Given the description of an element on the screen output the (x, y) to click on. 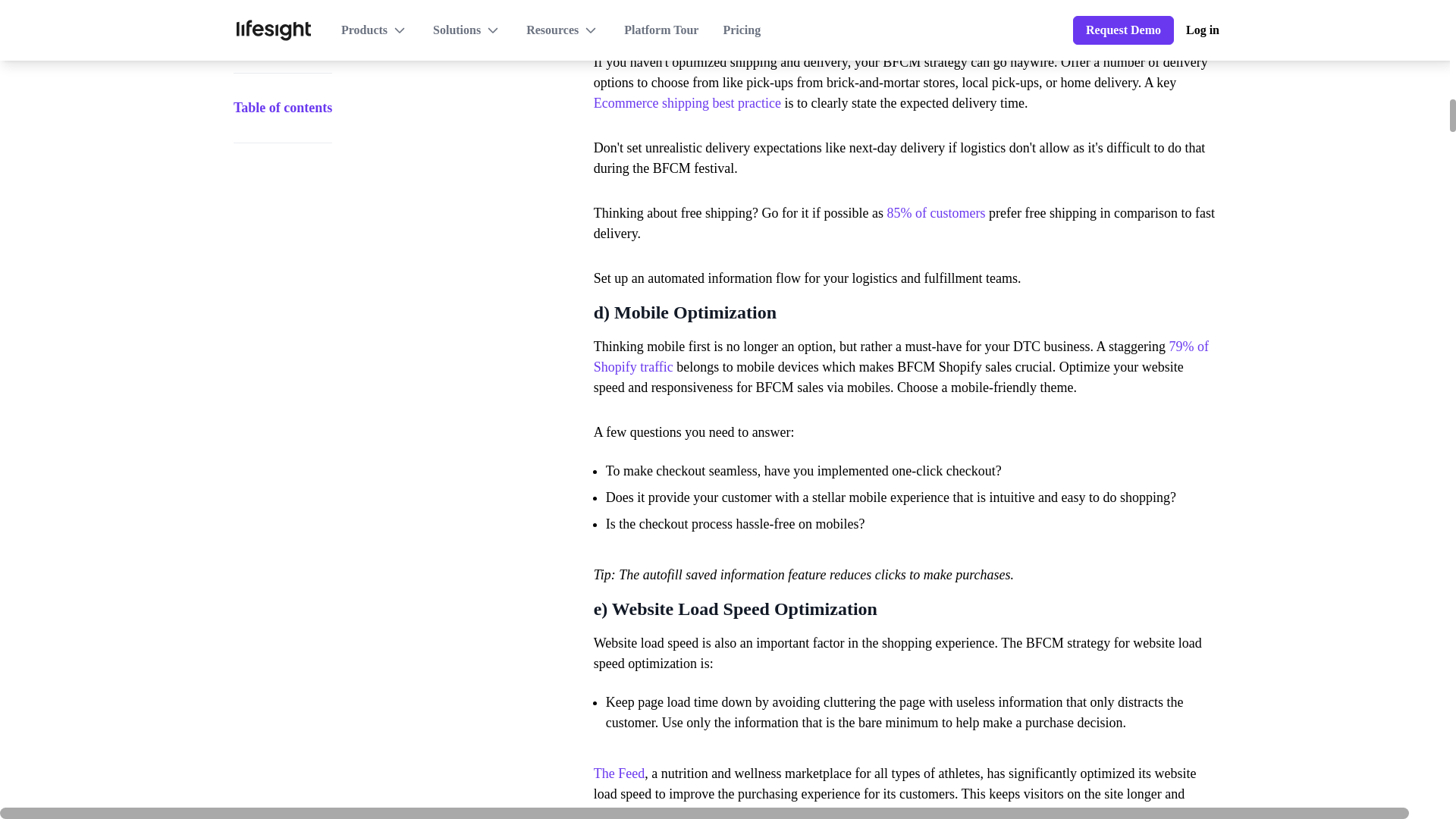
Ecommerce shipping best practice (687, 102)
The Feed (619, 773)
